Given the description of an element on the screen output the (x, y) to click on. 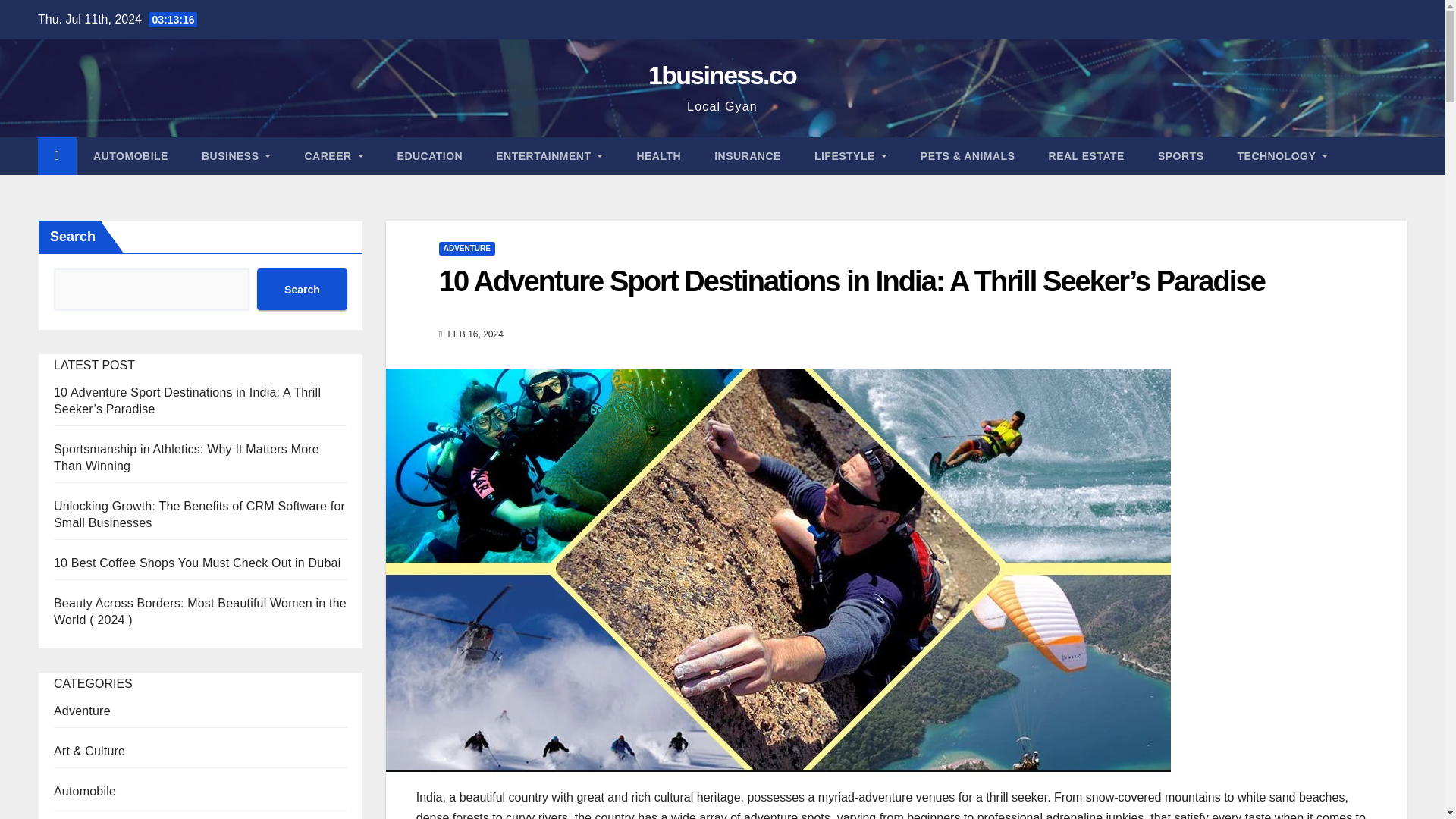
Automobile (130, 156)
SPORTS (1181, 156)
Education (430, 156)
ENTERTAINMENT (549, 156)
AUTOMOBILE (130, 156)
Sportsmanship in Athletics: Why It Matters More Than Winning (185, 457)
CAREER (333, 156)
1business.co (721, 74)
INSURANCE (747, 156)
10 Best Coffee Shops You Must Check Out in Dubai (196, 562)
HEALTH (658, 156)
Health (658, 156)
Automobile (84, 790)
Entertainment (549, 156)
